Given the description of an element on the screen output the (x, y) to click on. 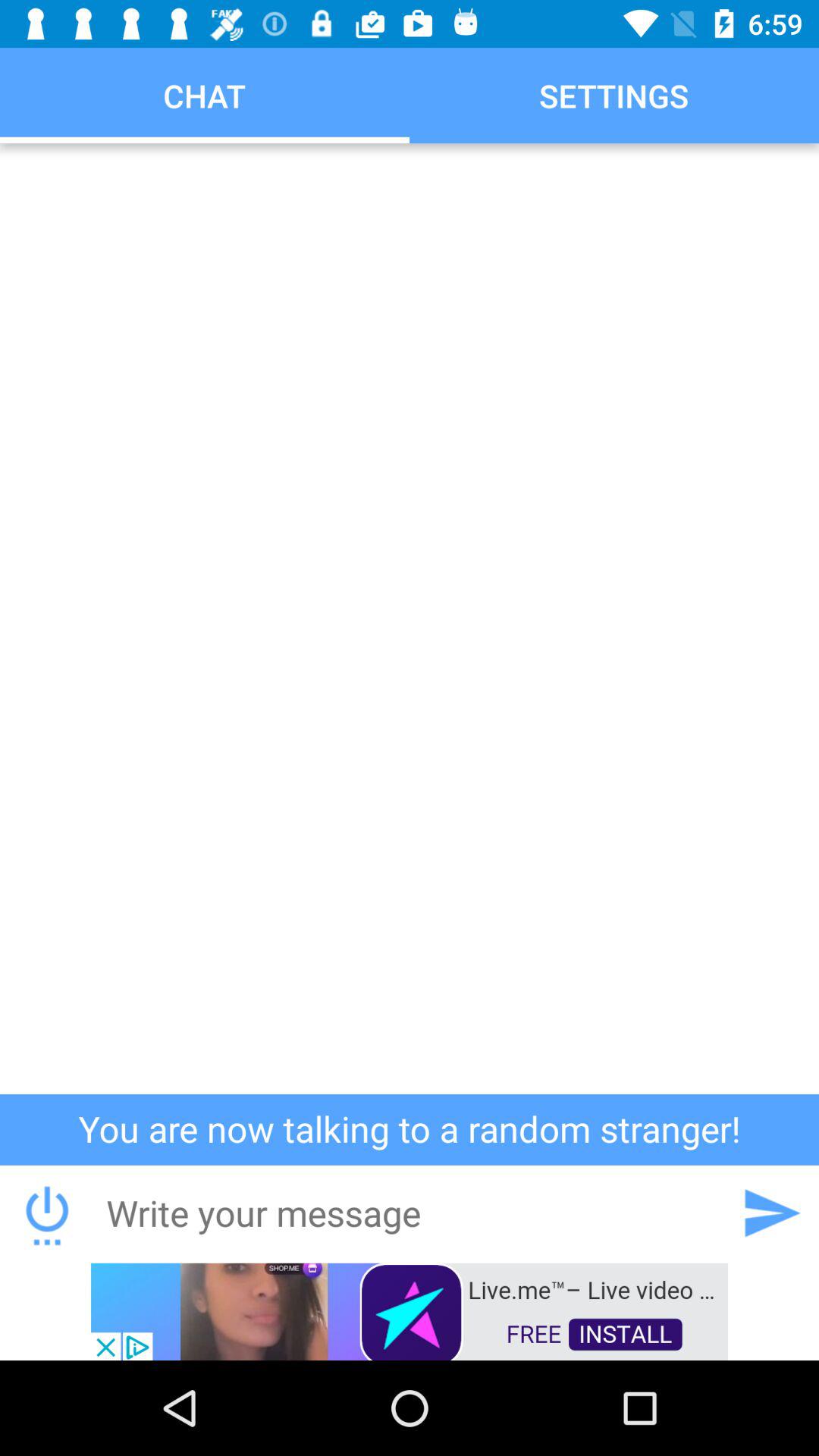
go to next (771, 1212)
